Given the description of an element on the screen output the (x, y) to click on. 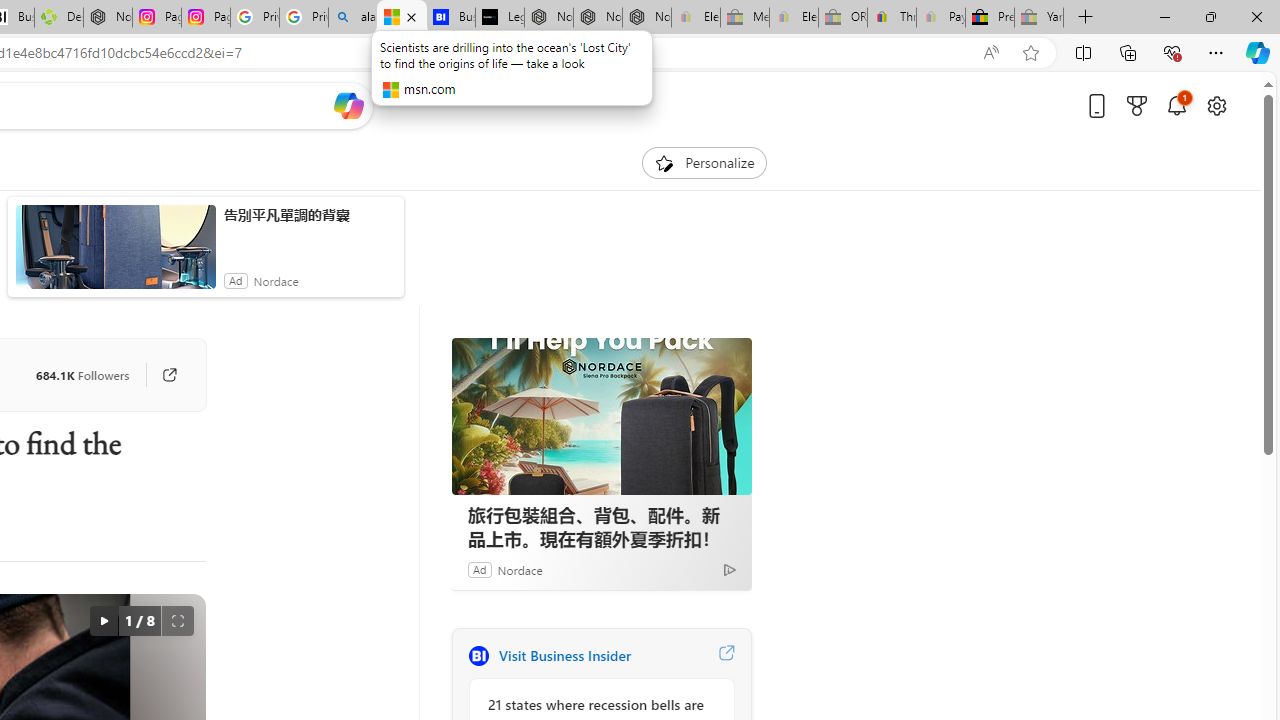
anim-content (115, 255)
Yard, Garden & Outdoor Living - Sleeping (1039, 17)
autorotate button (103, 620)
Visit Business Insider website (726, 655)
